Given the description of an element on the screen output the (x, y) to click on. 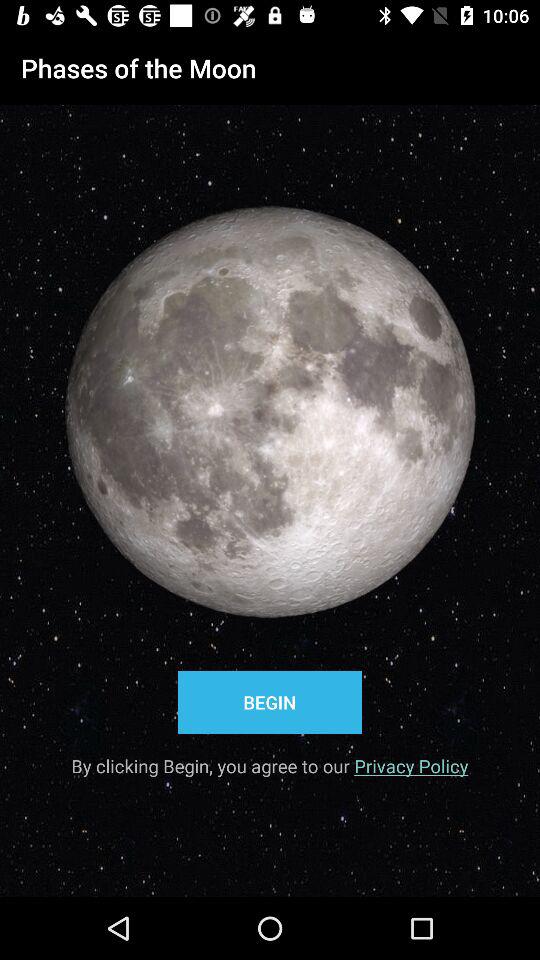
swipe to by clicking begin item (269, 759)
